Given the description of an element on the screen output the (x, y) to click on. 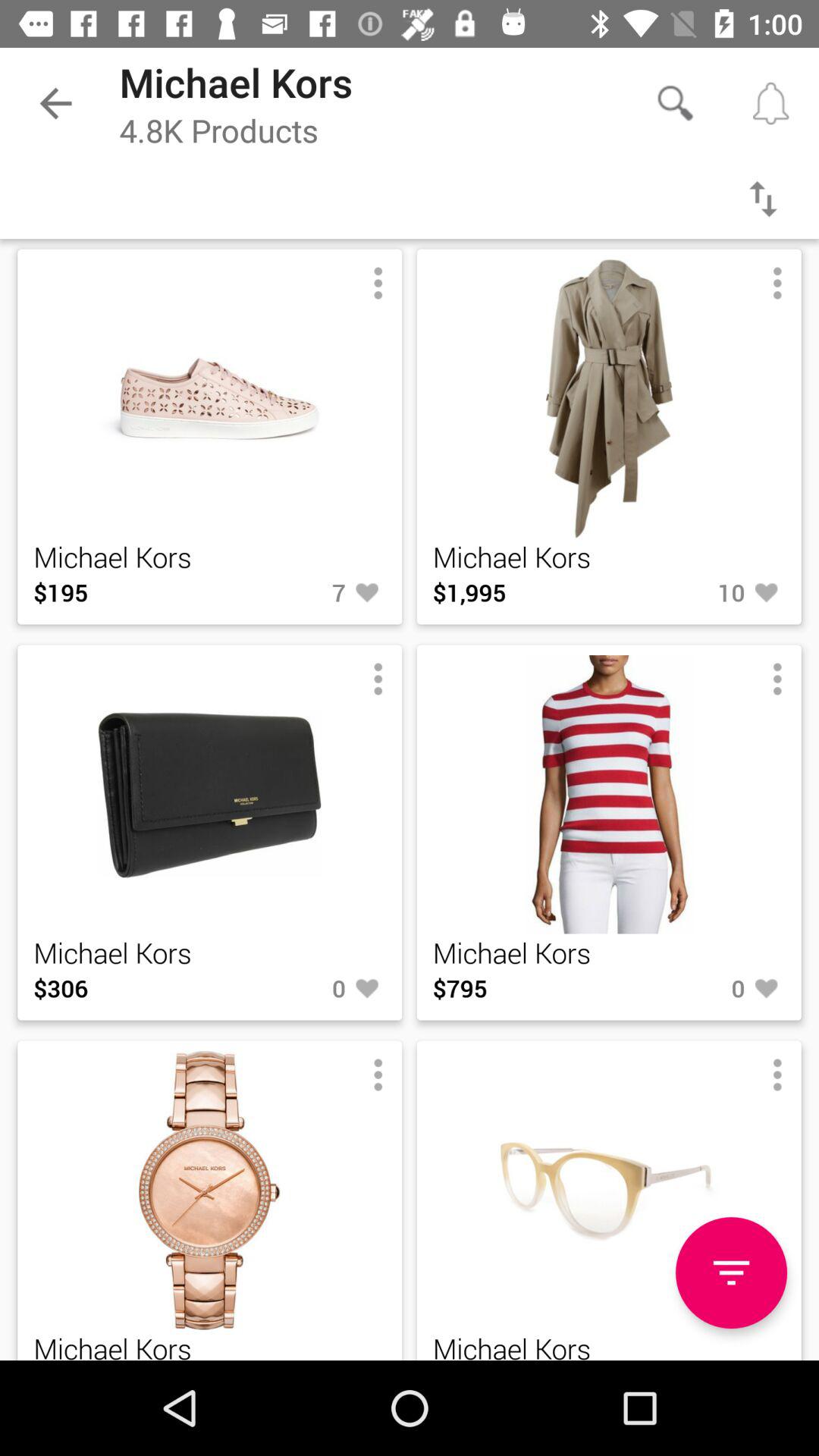
flip to the 6 item (297, 1359)
